Given the description of an element on the screen output the (x, y) to click on. 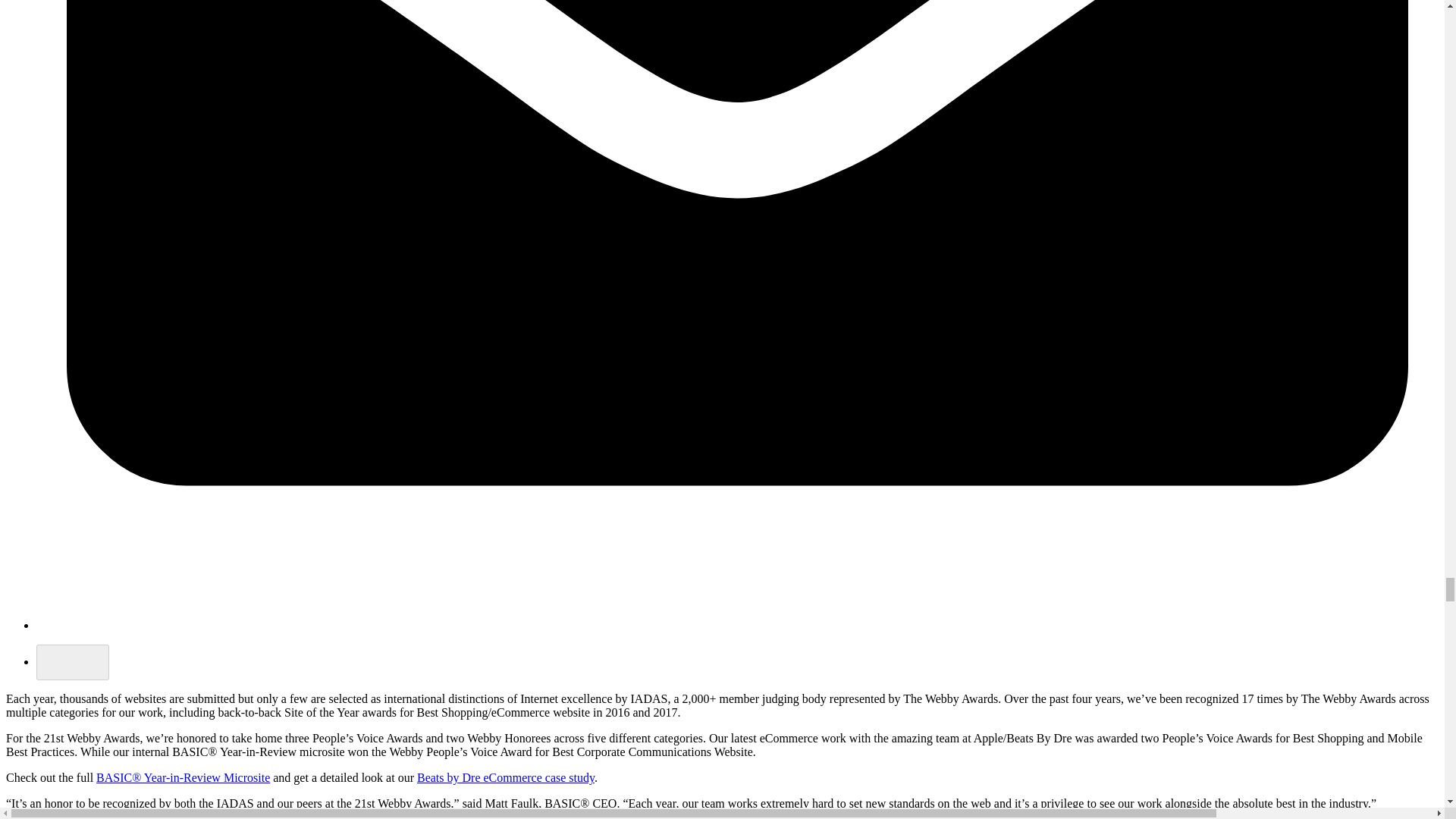
Beats by Dre eCommerce case study (505, 777)
